Given the description of an element on the screen output the (x, y) to click on. 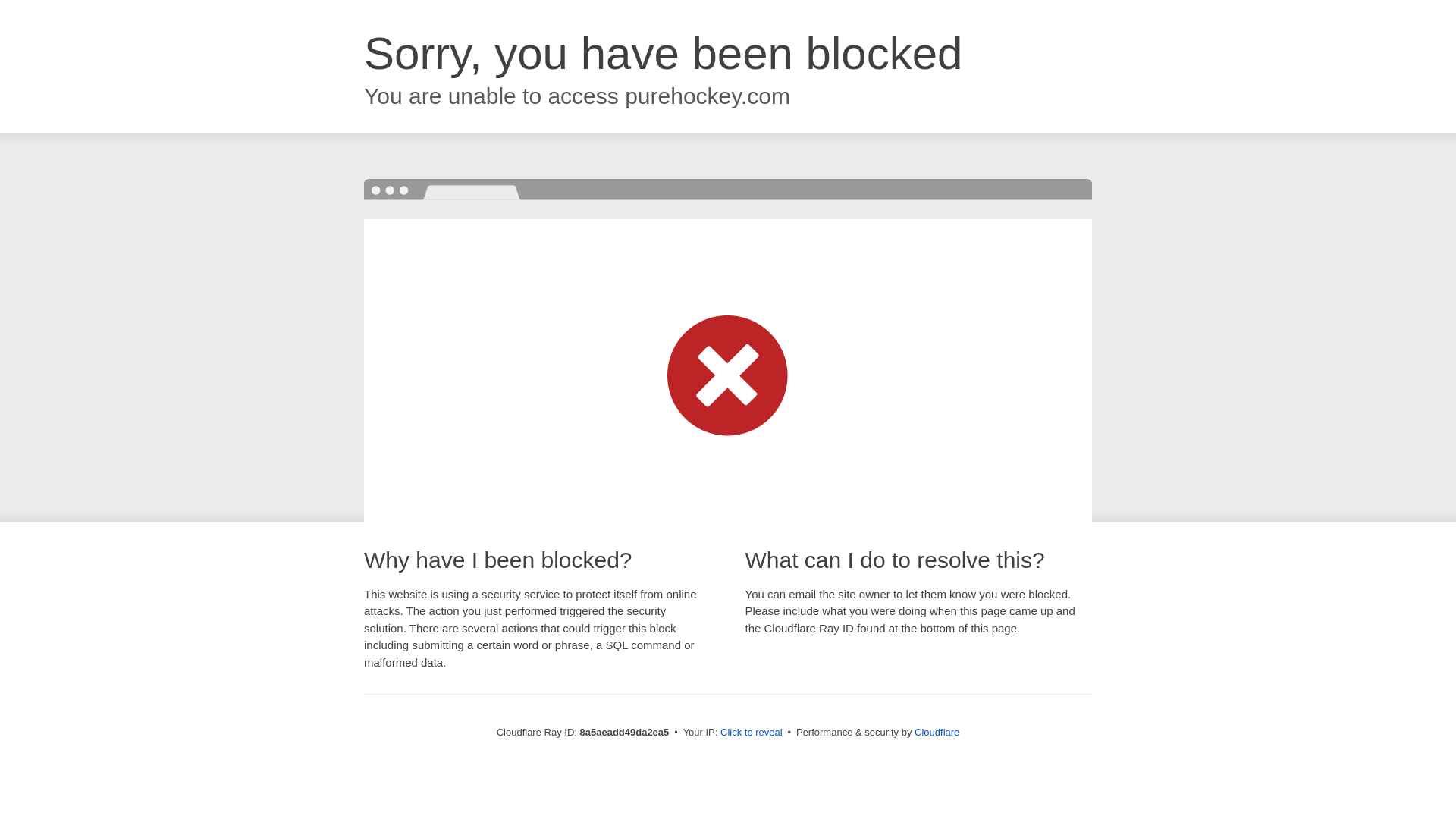
Click to reveal (751, 732)
Cloudflare (936, 731)
